Given the description of an element on the screen output the (x, y) to click on. 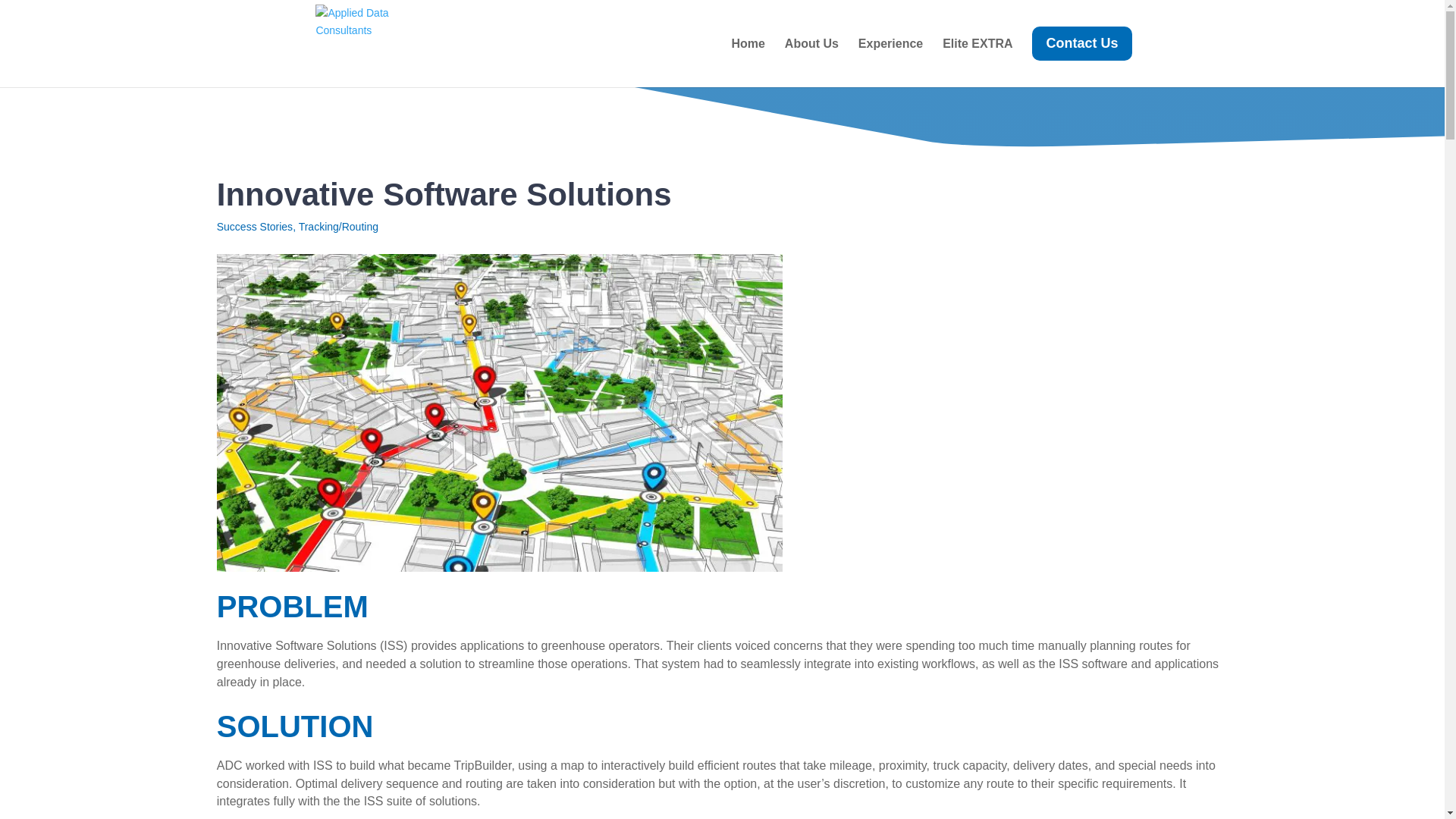
Success Stories (254, 226)
Home (747, 57)
Elite EXTRA (976, 57)
About Us (811, 57)
Experience (891, 57)
Contact Us (1081, 56)
